Given the description of an element on the screen output the (x, y) to click on. 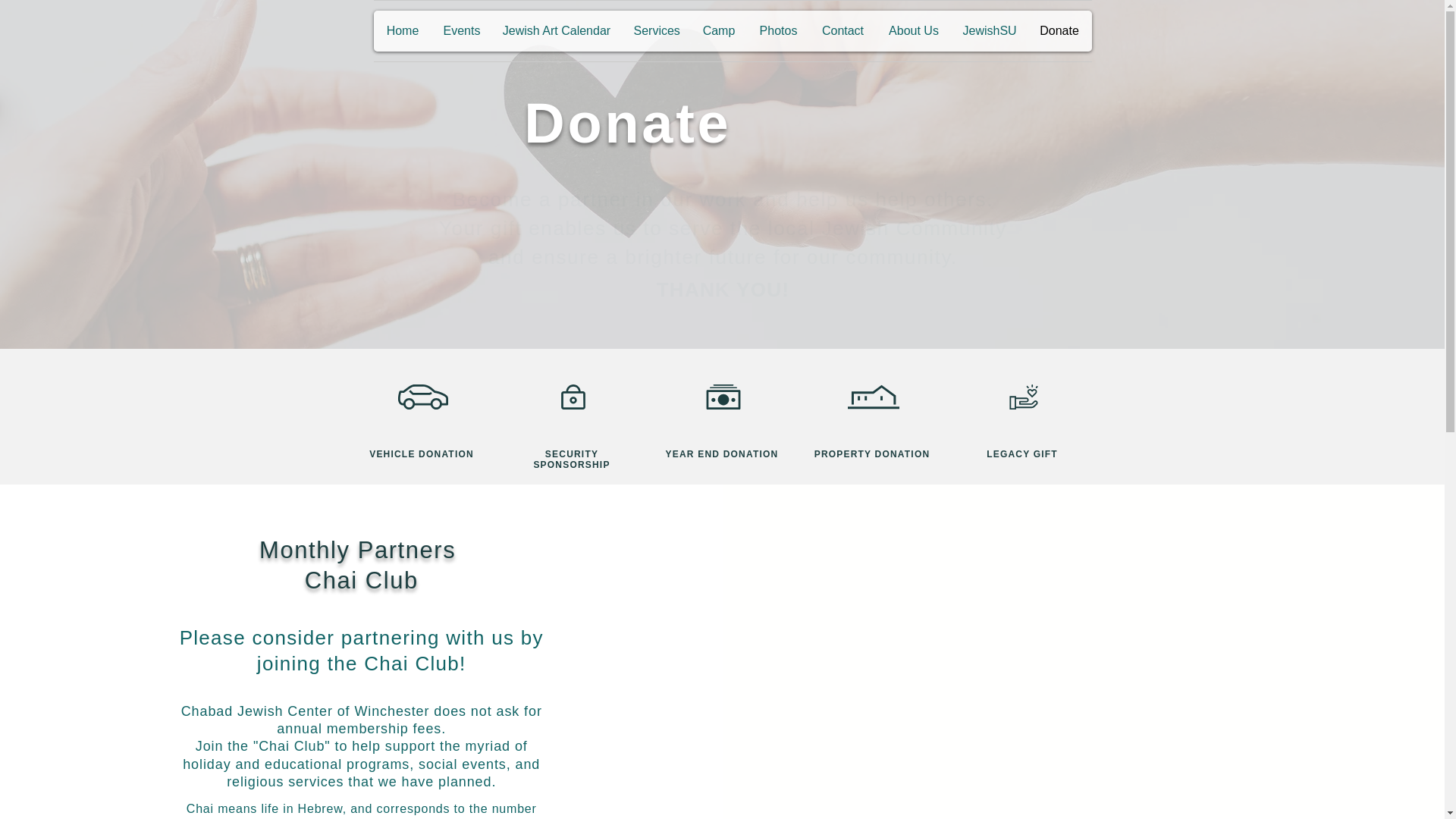
Donate (1058, 30)
Events (462, 30)
Jewish Art Calendar (557, 30)
Photos (778, 30)
JewishSU (988, 30)
Contact (842, 30)
Home (401, 30)
About Us (914, 30)
Camp (718, 30)
Embedded Content (920, 677)
